Given the description of an element on the screen output the (x, y) to click on. 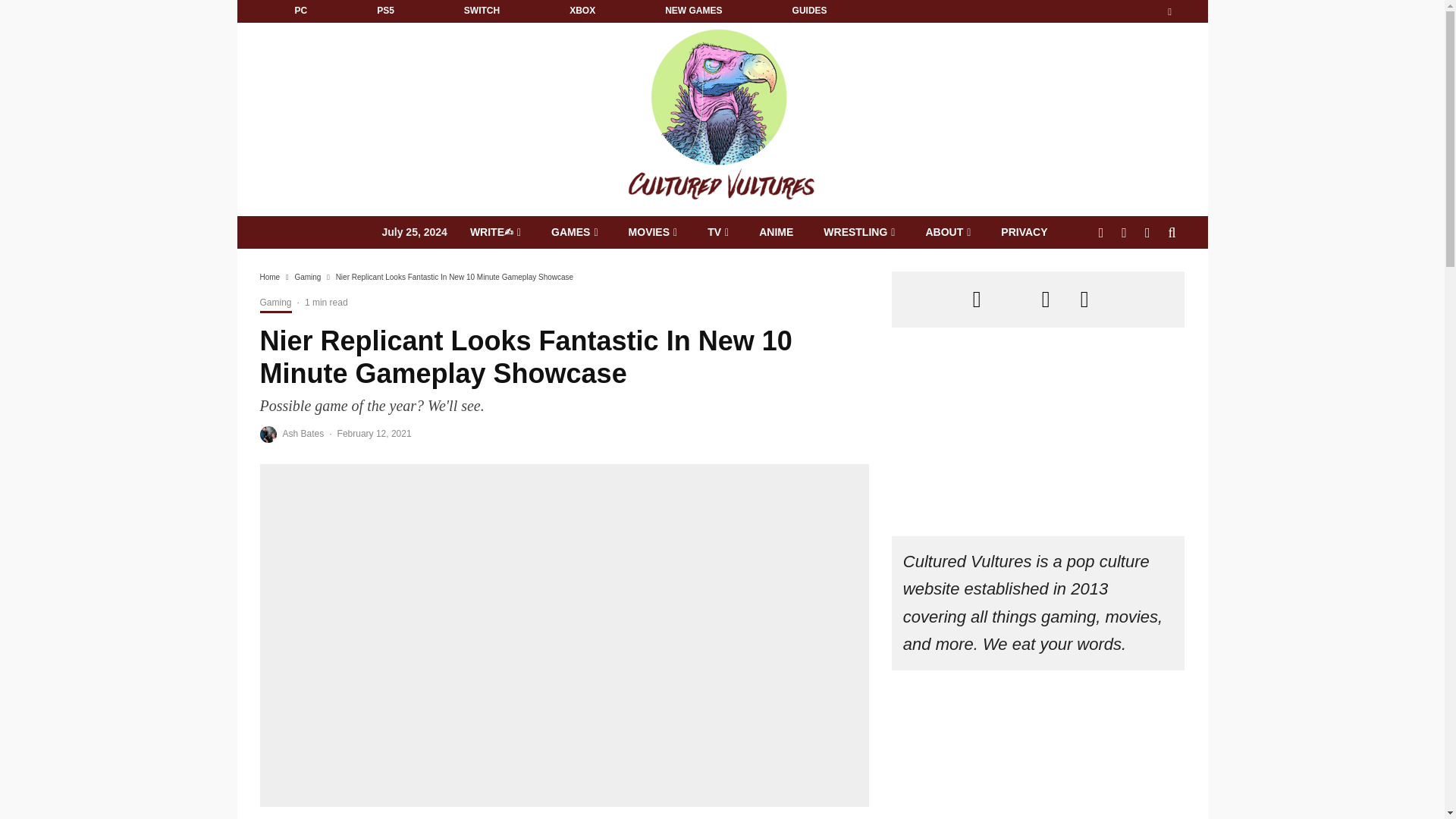
PC (300, 11)
NEW GAMES (693, 11)
SWITCH (481, 11)
XBOX (582, 11)
GAMES (573, 232)
Switch News (481, 11)
Video Game Guides (809, 11)
PS5 News (385, 11)
GUIDES (809, 11)
New Games Coming Out (693, 11)
PS5 (385, 11)
